Given the description of an element on the screen output the (x, y) to click on. 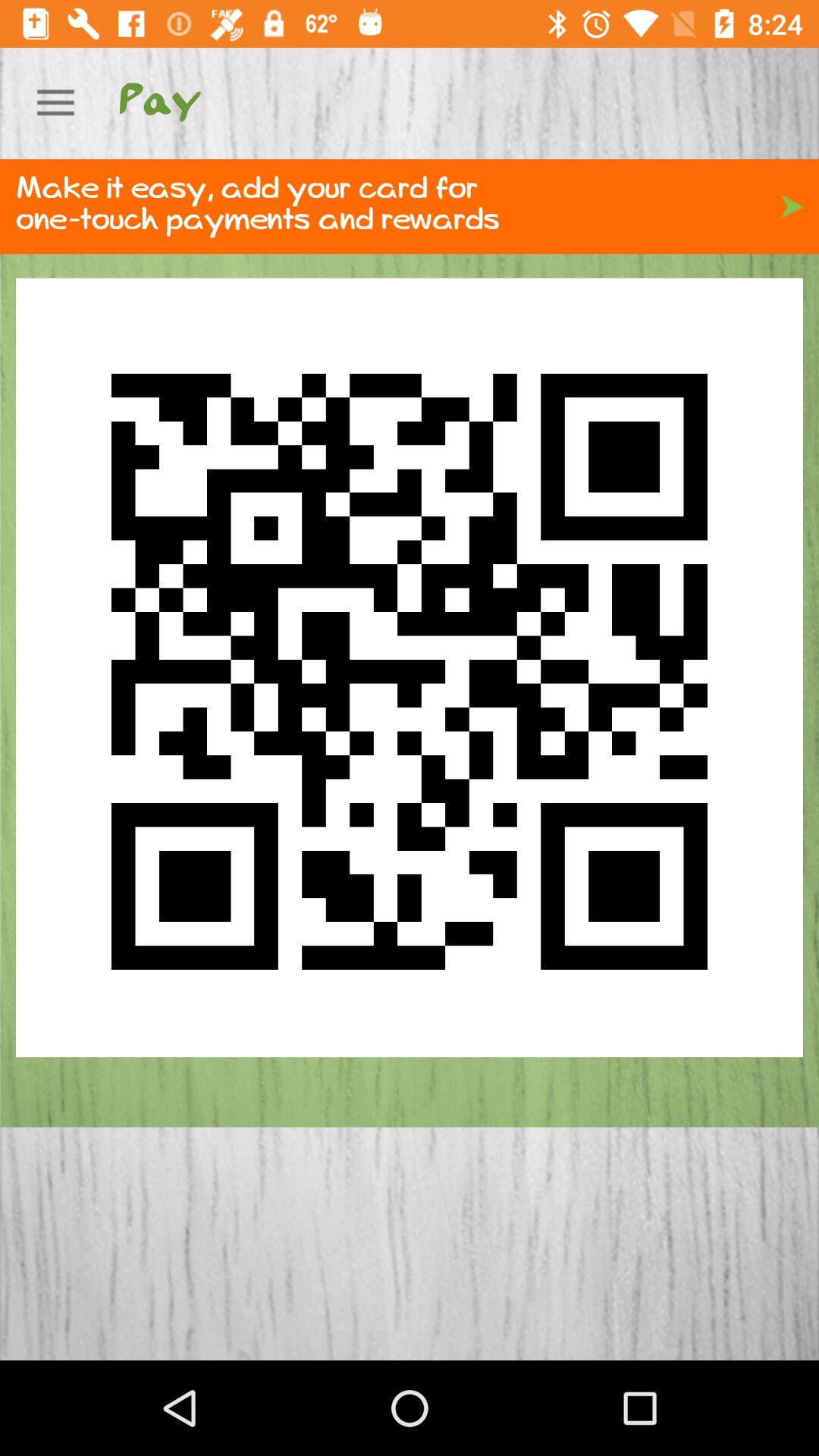
open the app next to pay (55, 103)
